Given the description of an element on the screen output the (x, y) to click on. 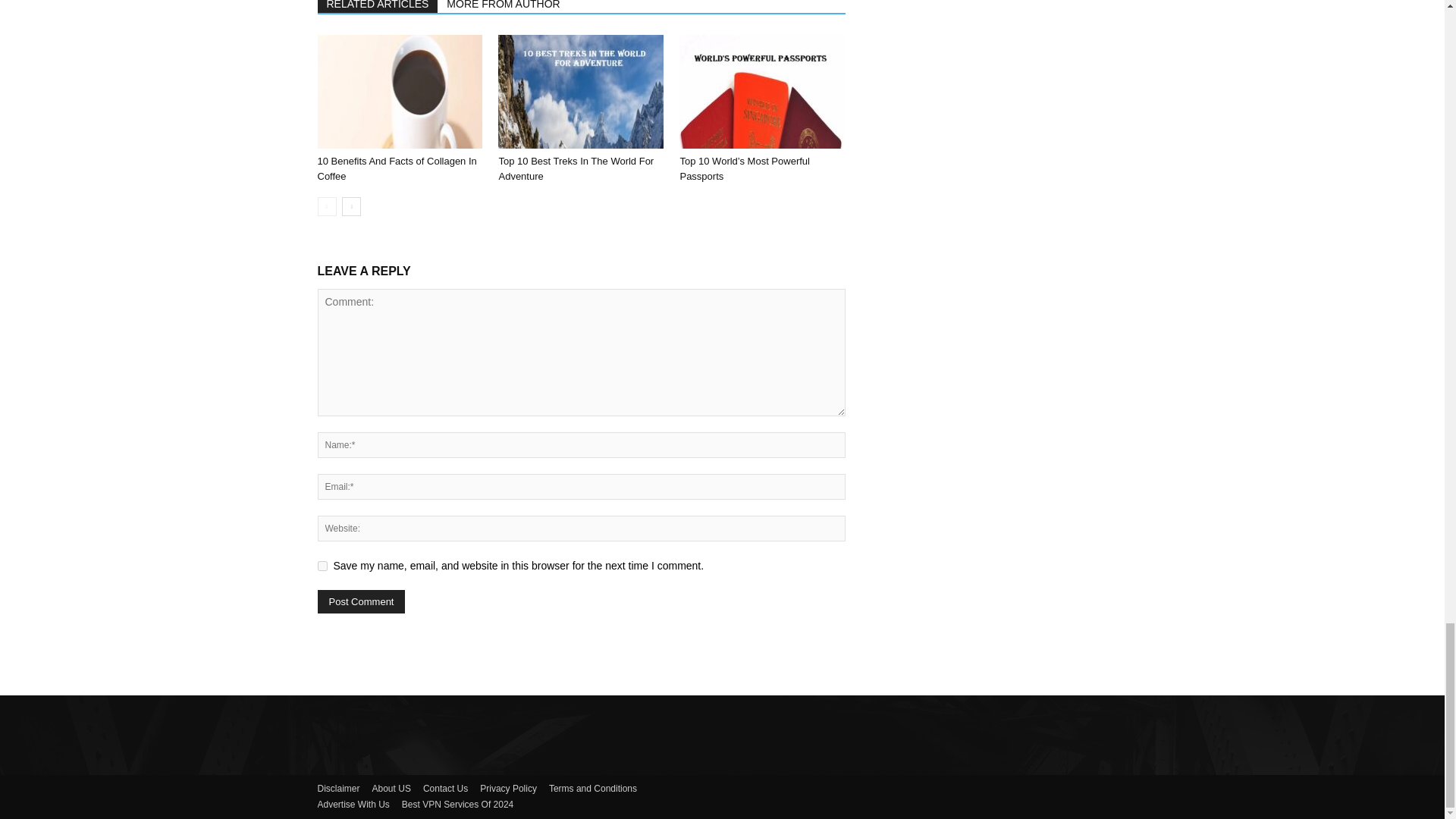
Post Comment (360, 601)
yes (321, 565)
